Given the description of an element on the screen output the (x, y) to click on. 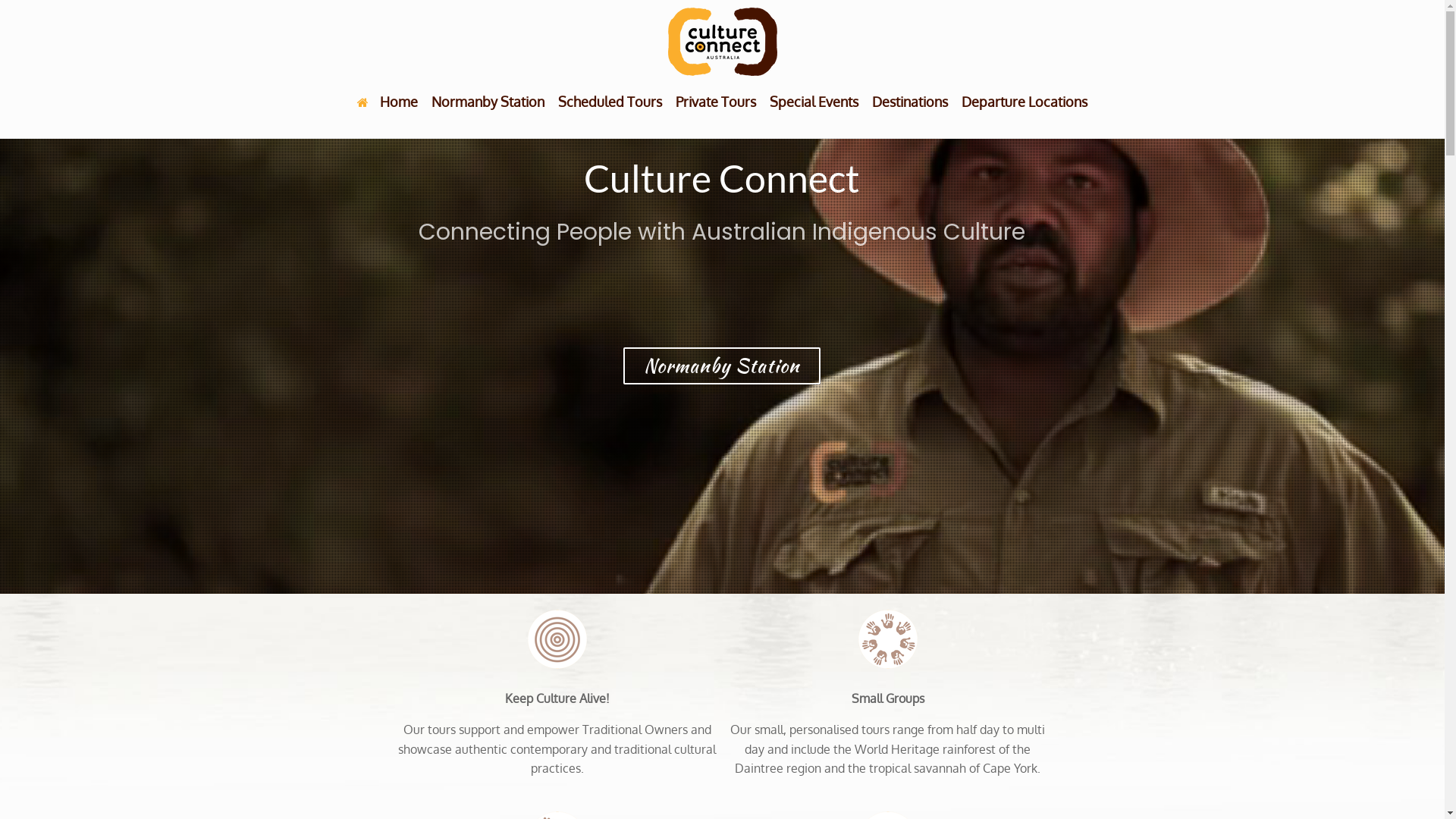
Normanby Station Element type: text (487, 101)
Scheduled Tours Element type: text (609, 101)
Destinations Element type: text (909, 101)
Departure Locations Element type: text (1024, 101)
Special Events Element type: text (813, 101)
Home Element type: text (387, 101)
Private Tours Element type: text (715, 101)
Culture Connect Element type: hover (721, 41)
